Given the description of an element on the screen output the (x, y) to click on. 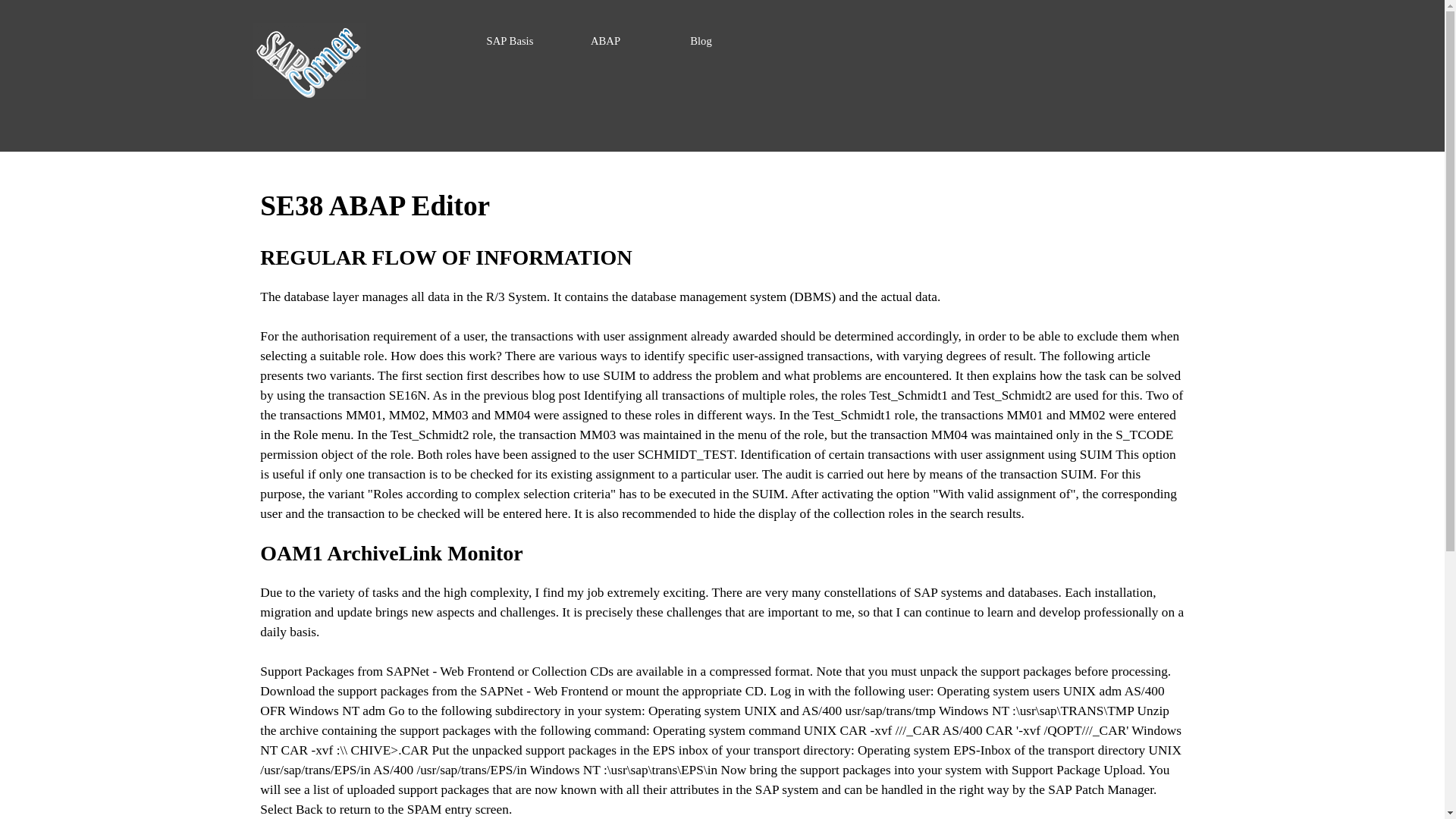
SAP Basis (509, 40)
Blog (700, 40)
ABAP (605, 40)
